Given the description of an element on the screen output the (x, y) to click on. 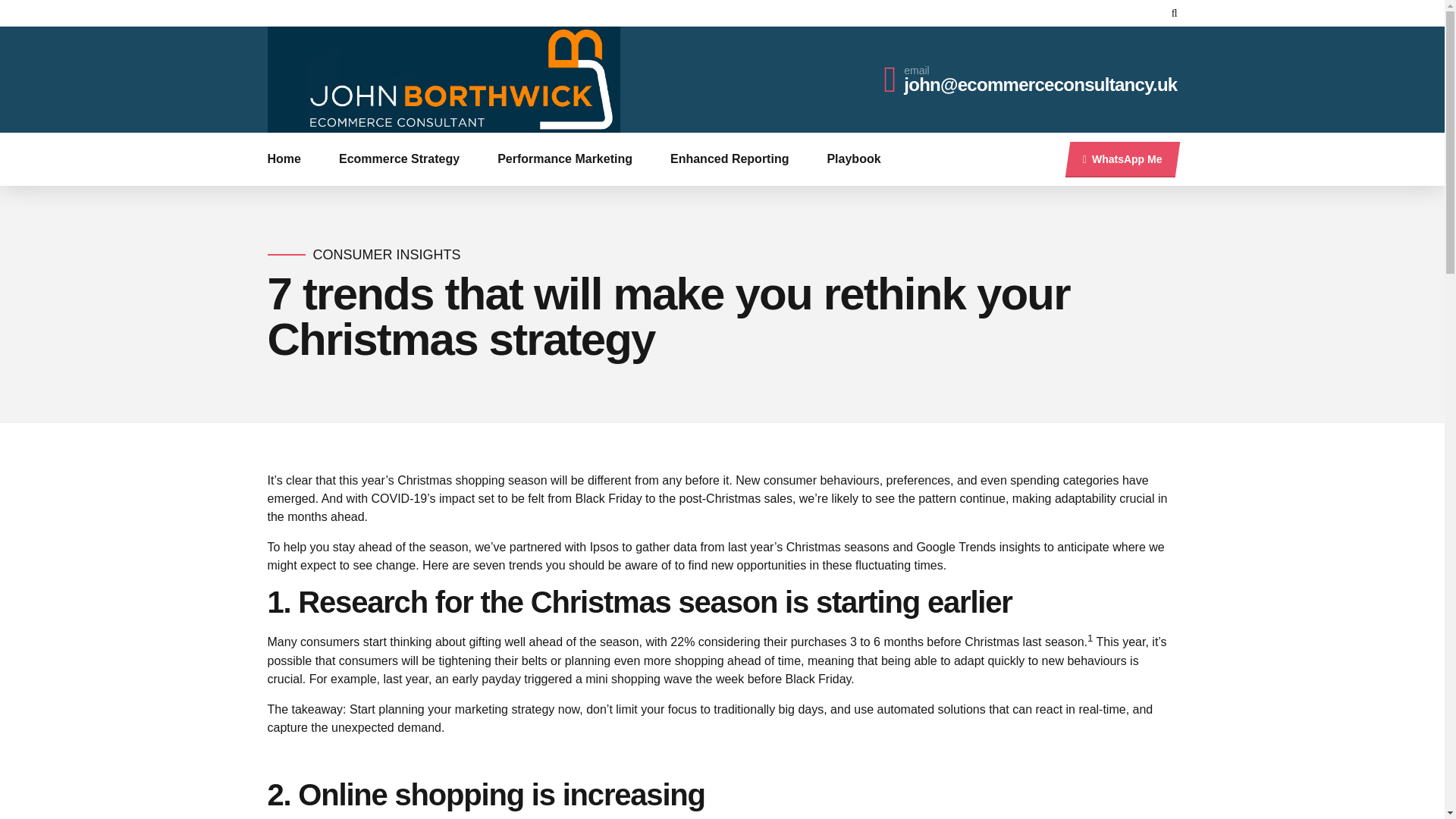
Enhanced Reporting (729, 158)
Performance Marketing (564, 158)
Playbook (853, 158)
Ecommerce Strategy (399, 158)
WhatsApp Me (1122, 158)
CONSUMER INSIGHTS (386, 254)
WhatsApp Me (1122, 158)
